Given the description of an element on the screen output the (x, y) to click on. 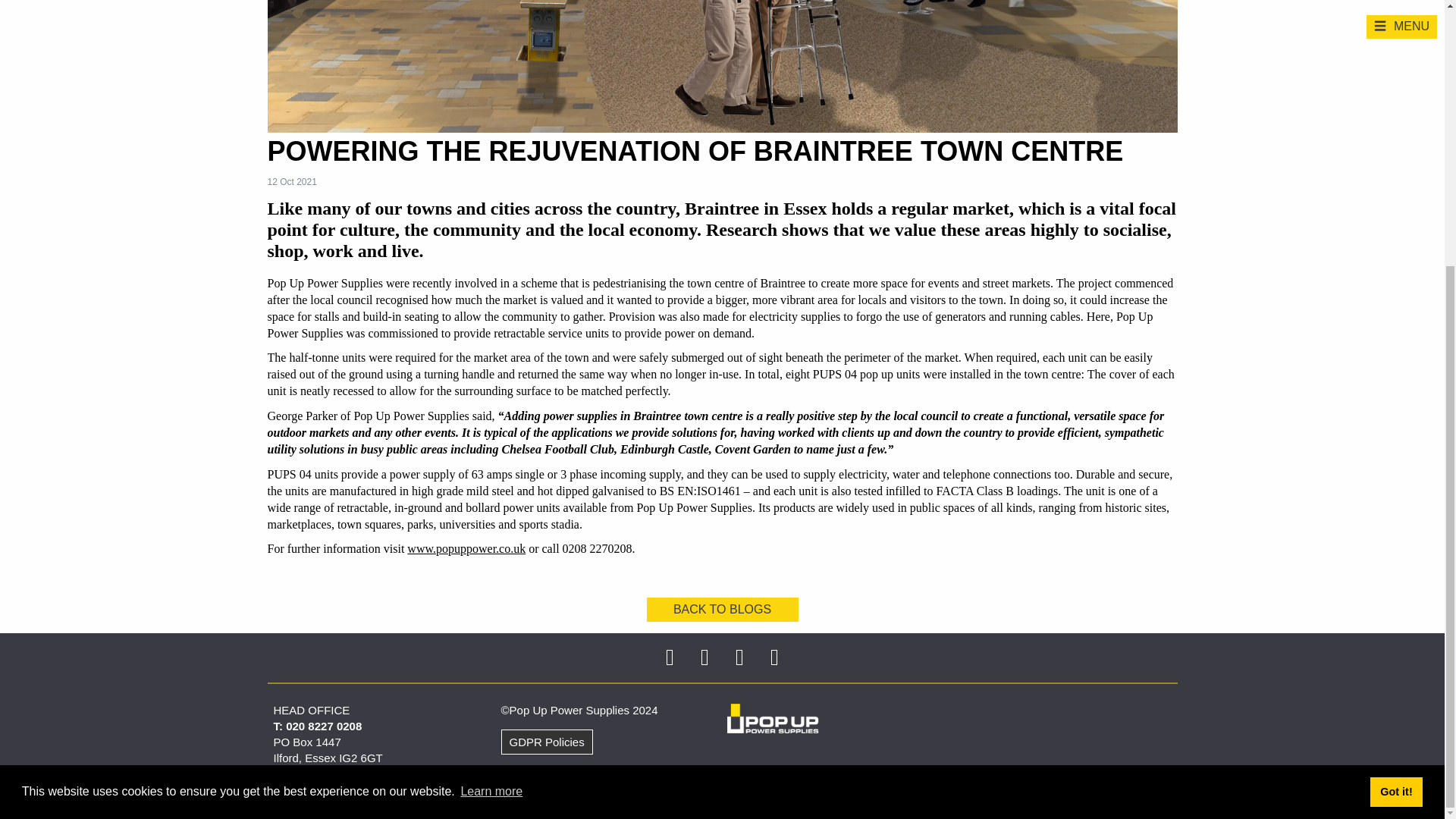
www.popuppower.co.uk (466, 548)
BACK TO BLOGS (721, 609)
GDPR Policies (546, 741)
Got it! (1396, 406)
Learn more (491, 405)
Email Enquiries (320, 789)
